Given the description of an element on the screen output the (x, y) to click on. 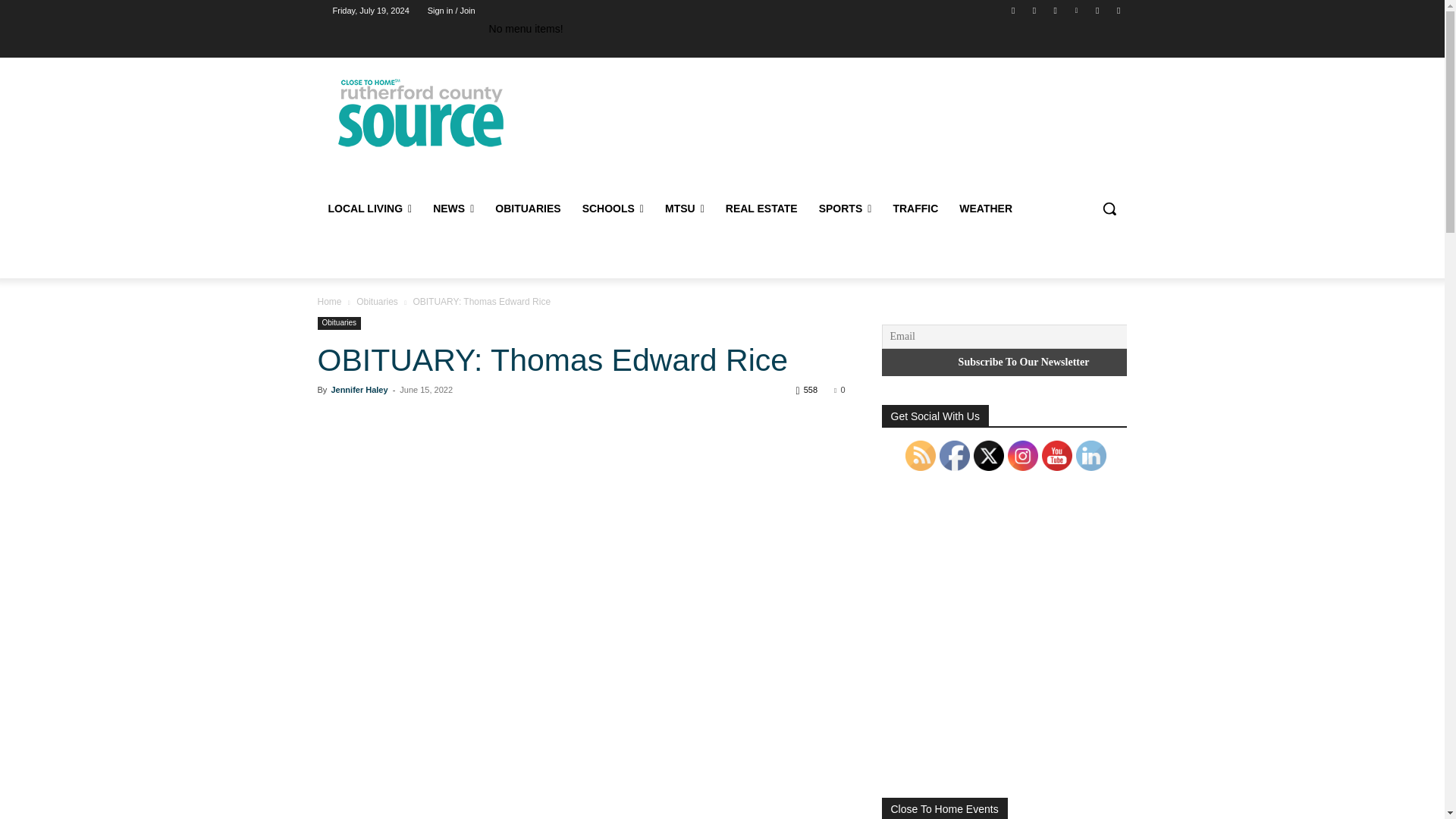
View all posts in Obituaries (376, 301)
Linkedin (1075, 9)
Subscribe To Our Newsletter (1023, 361)
Youtube (1117, 9)
Flipboard (1034, 9)
Facebook (1013, 9)
Instagram (1055, 9)
Twitter (1097, 9)
